Given the description of an element on the screen output the (x, y) to click on. 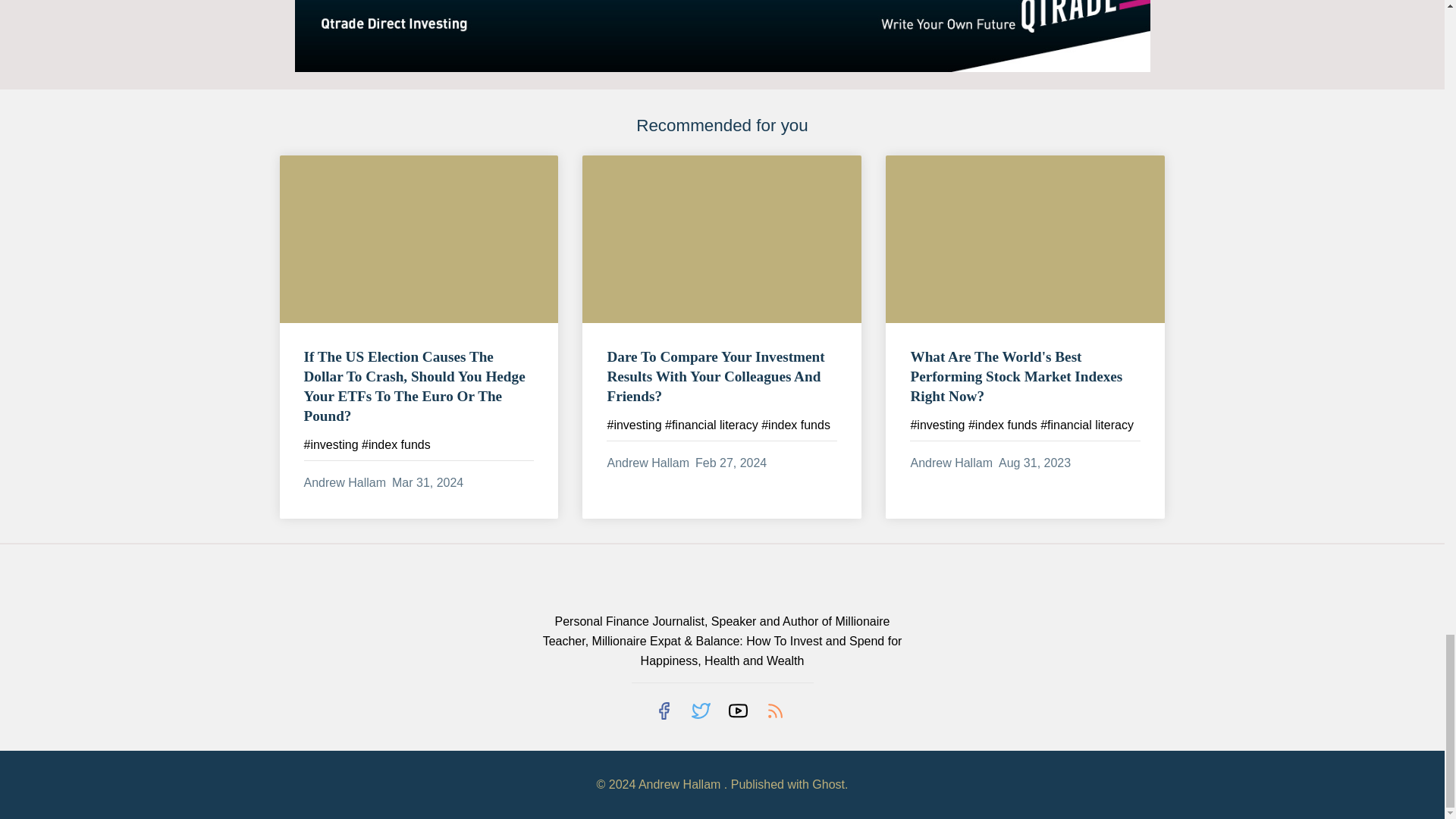
Financial Literacy (711, 424)
Investing (634, 424)
Index Funds (395, 444)
Index Funds (795, 424)
Investing (330, 444)
